Given the description of an element on the screen output the (x, y) to click on. 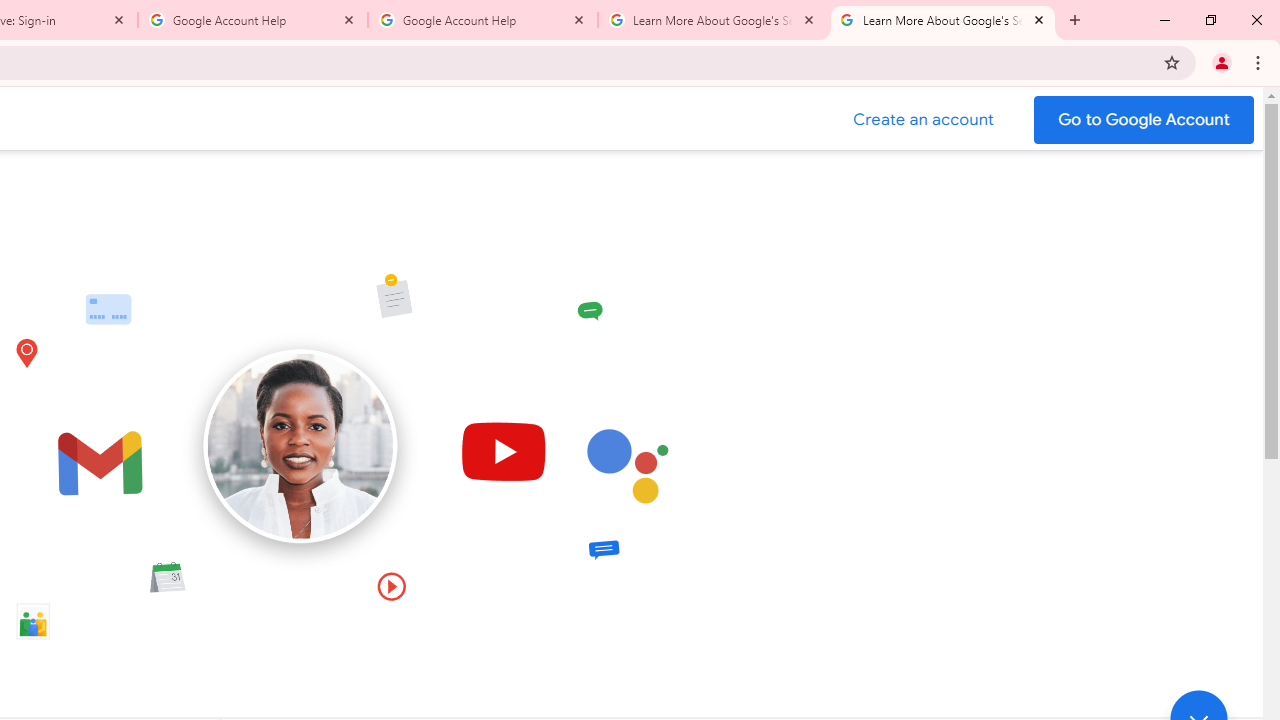
Create a Google Account (923, 119)
Google Account Help (253, 20)
Google Account Help (482, 20)
Go to your Google Account (1144, 119)
